Given the description of an element on the screen output the (x, y) to click on. 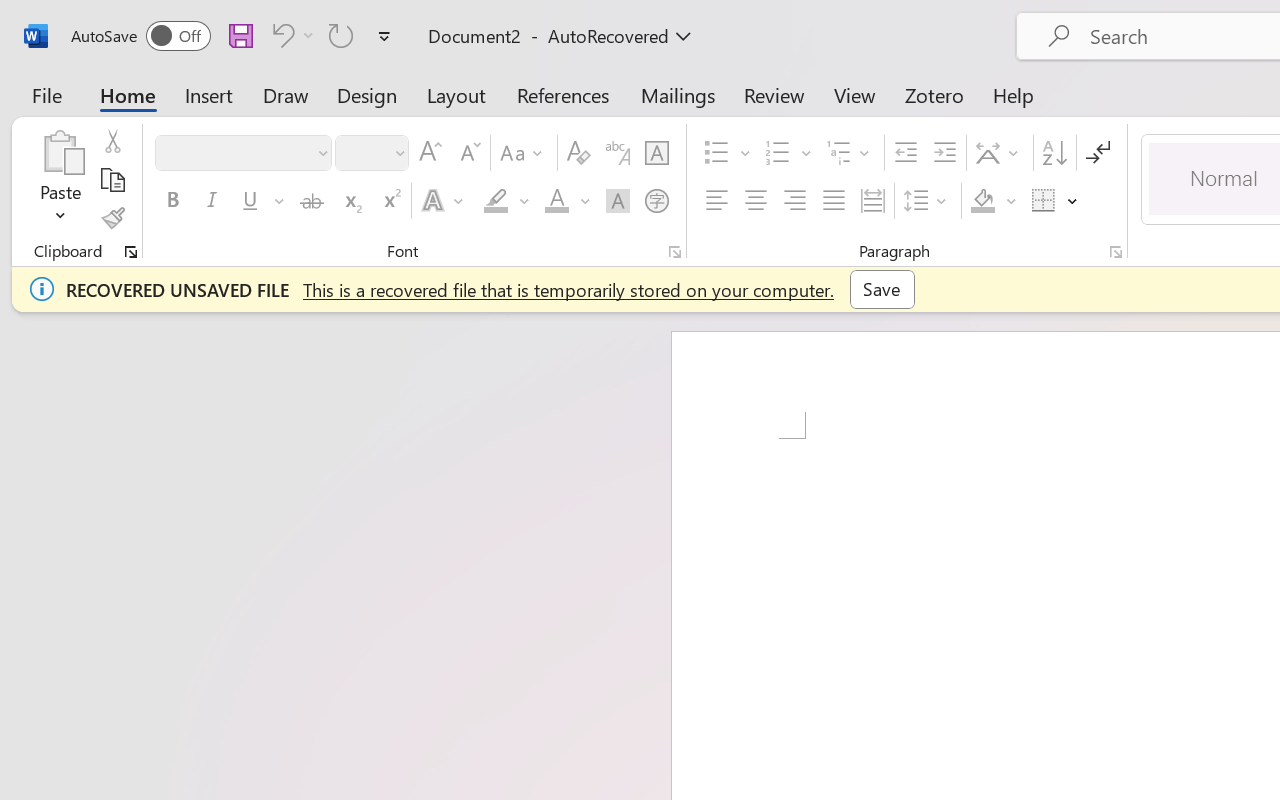
Strikethrough (312, 201)
Can't Undo (280, 35)
Show/Hide Editing Marks (1098, 153)
Text Highlight Color Yellow (495, 201)
Help (1013, 94)
Line and Paragraph Spacing (927, 201)
Can't Repeat (341, 35)
Shrink Font (468, 153)
Align Right (794, 201)
